Given the description of an element on the screen output the (x, y) to click on. 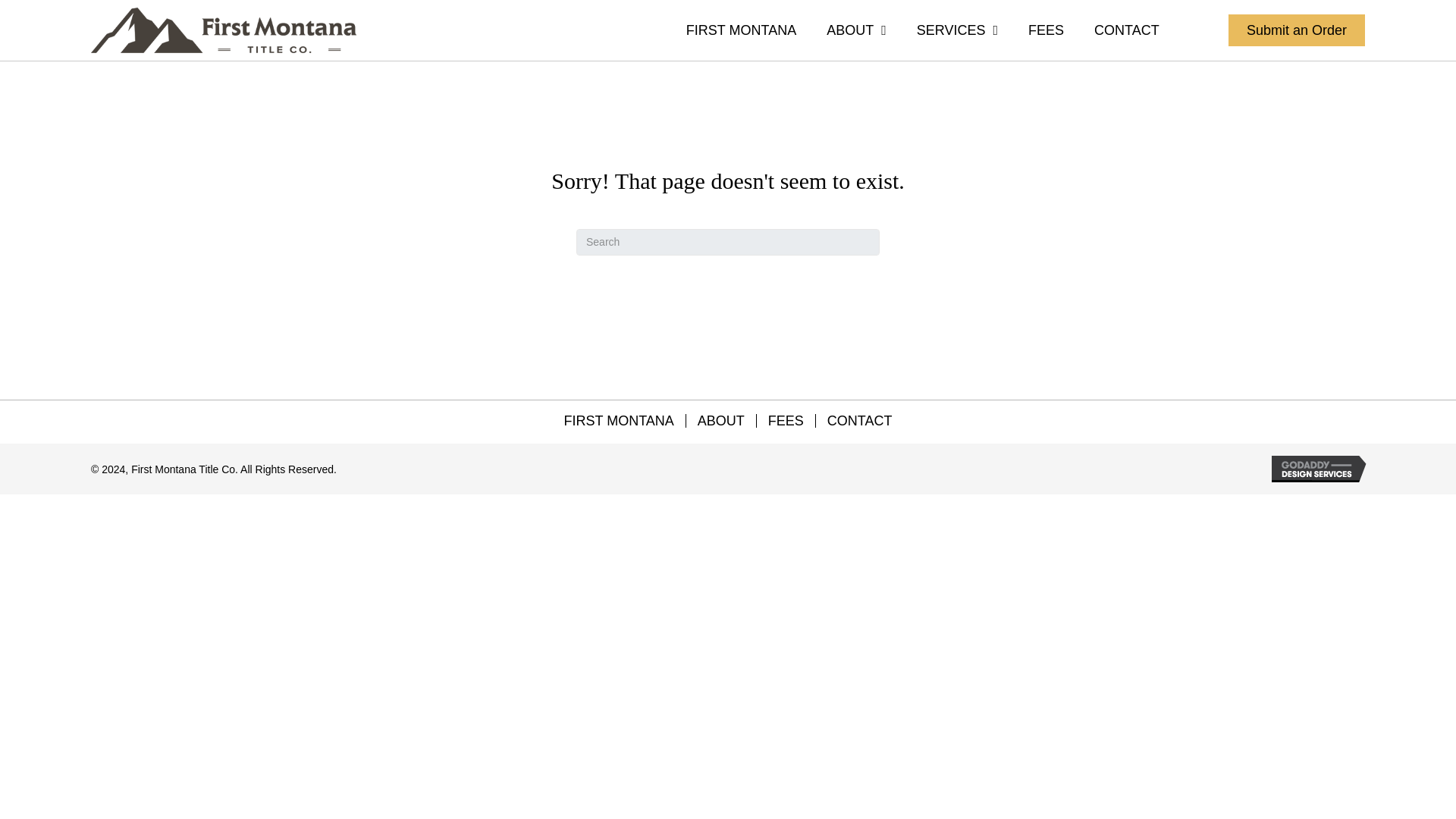
ABOUT (720, 420)
Type and press Enter to search. (727, 242)
SERVICES (957, 31)
ABOUT (856, 31)
Submit an Order (1296, 29)
FIRST MONTANA (740, 31)
First Montana Title Co. (223, 30)
FEES (1045, 31)
FIRST MONTANA (617, 420)
CONTACT (859, 420)
FEES (786, 420)
CONTACT (1126, 31)
